Given the description of an element on the screen output the (x, y) to click on. 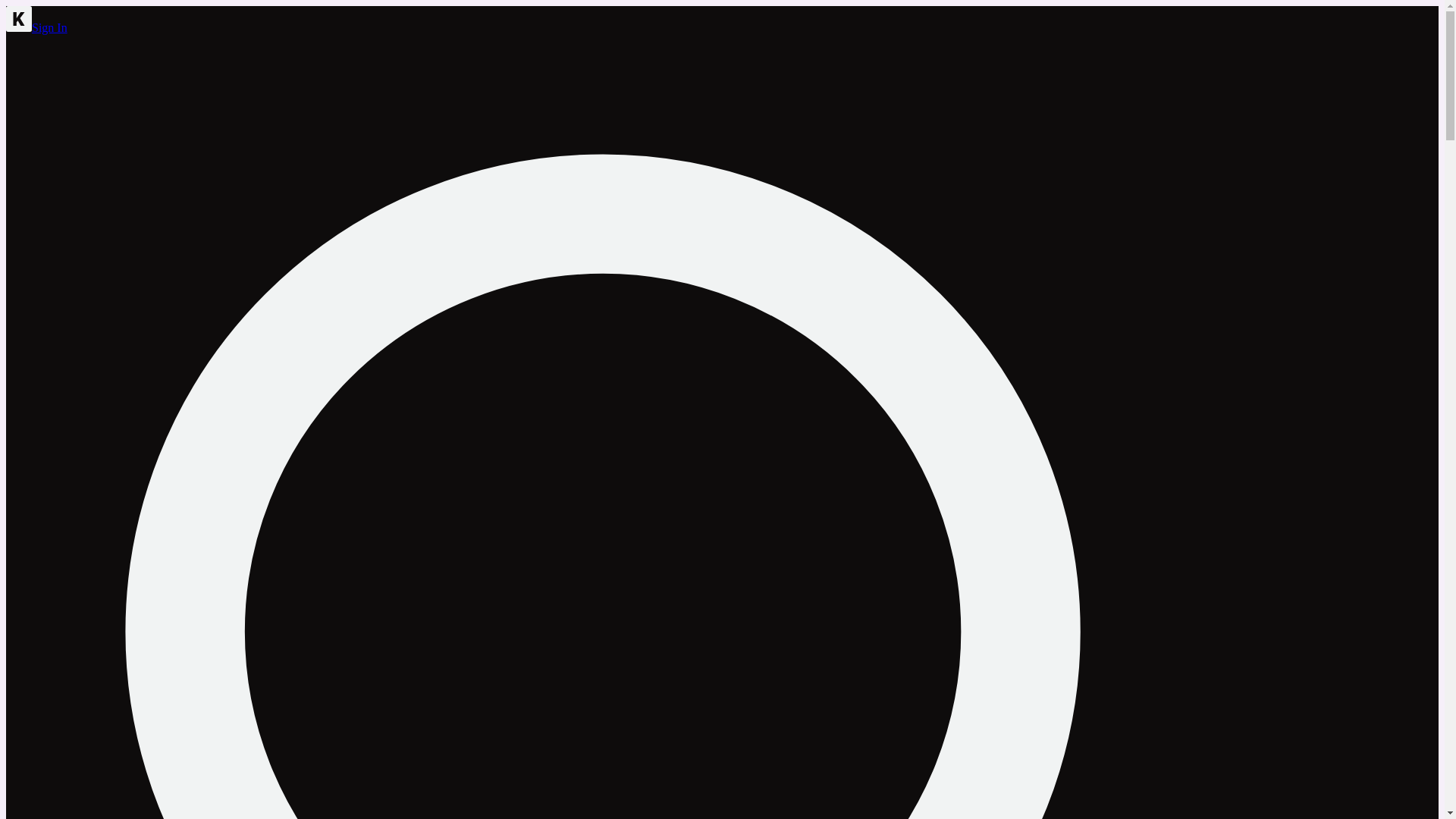
Sign In (49, 27)
